Given the description of an element on the screen output the (x, y) to click on. 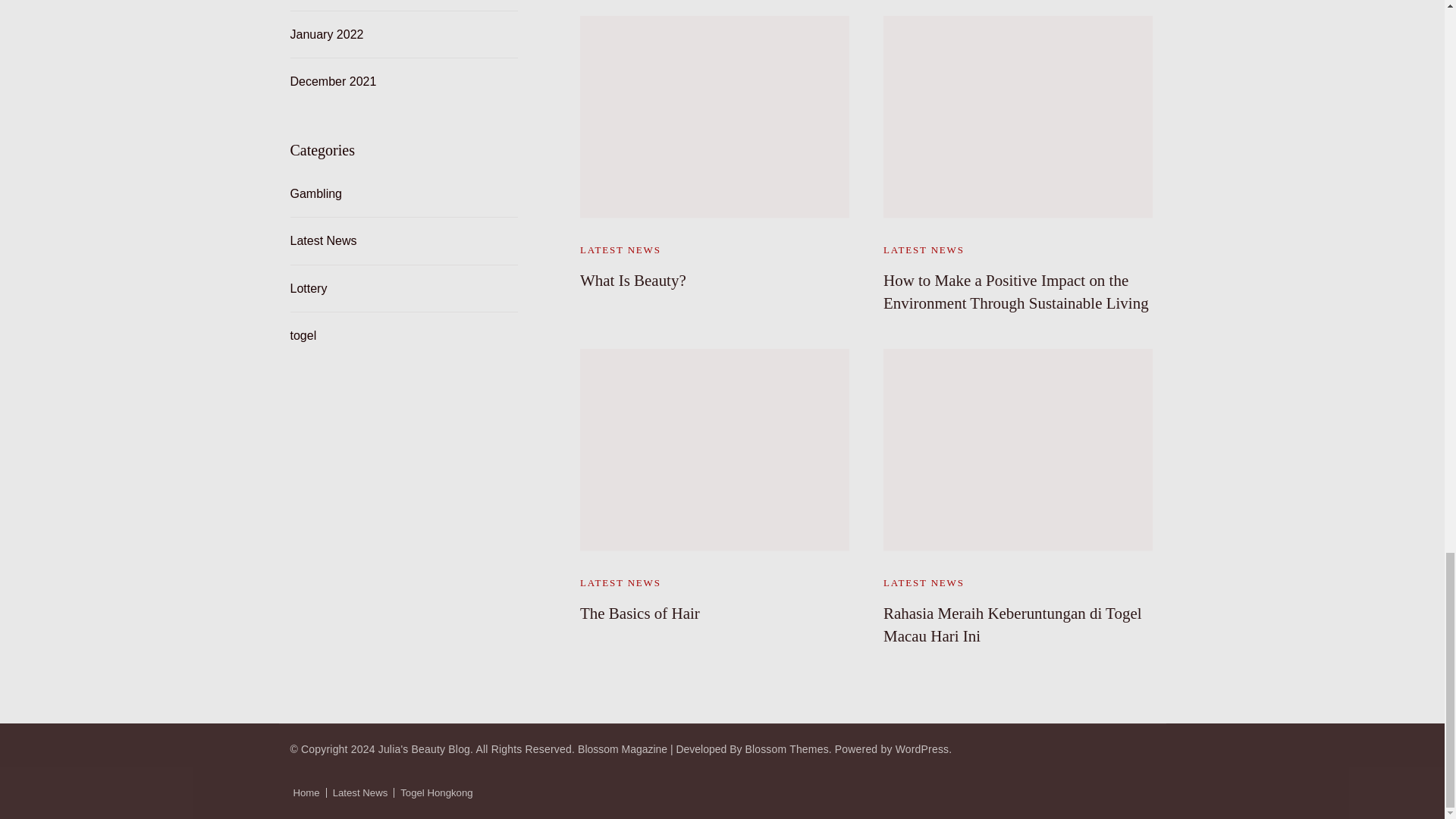
LATEST NEWS (923, 249)
LATEST NEWS (620, 249)
What Is Beauty? (632, 280)
LATEST NEWS (620, 582)
